Given the description of an element on the screen output the (x, y) to click on. 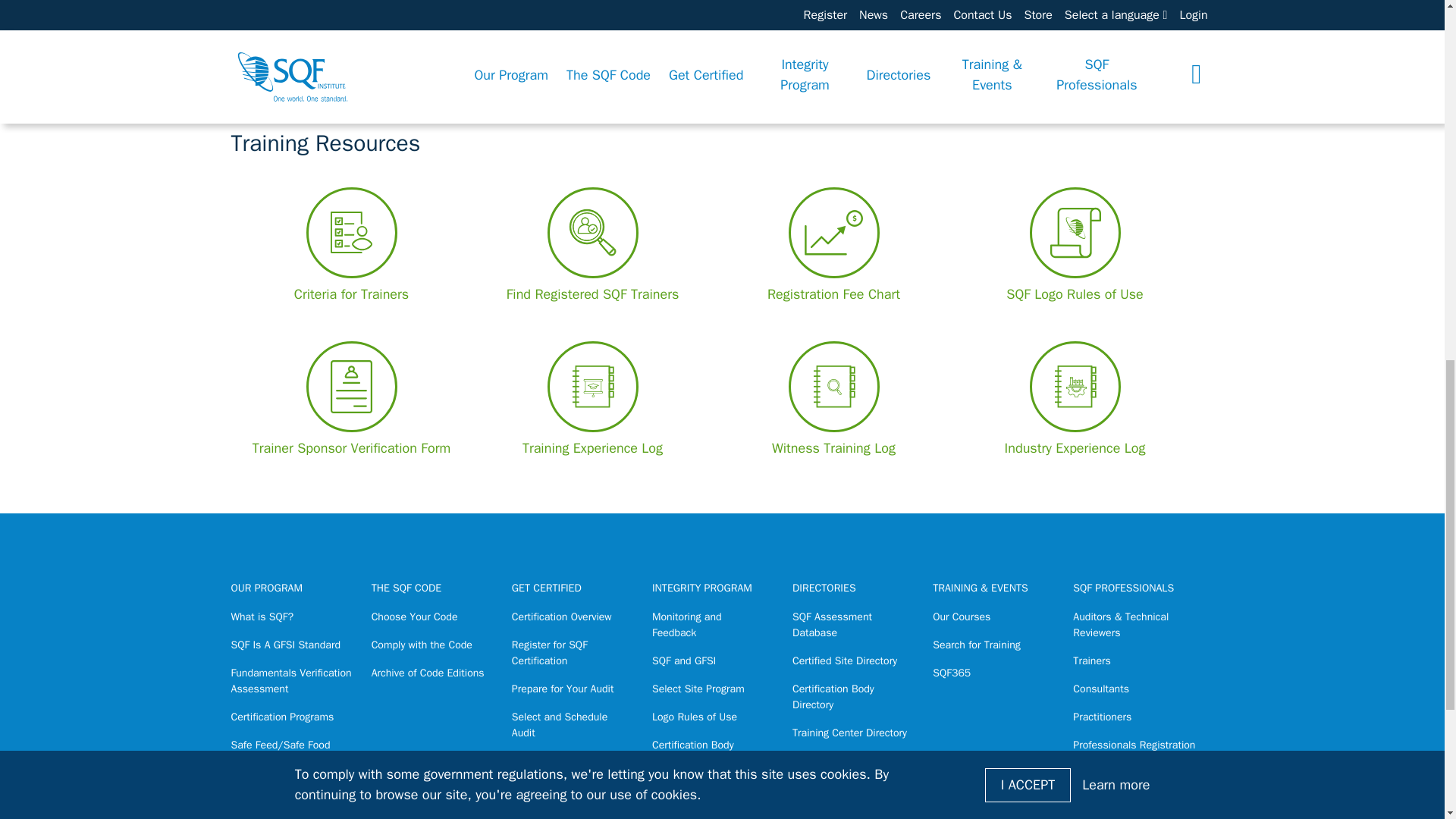
product-thumb-SQF-auditing-quality-systems (388, 7)
